Given the description of an element on the screen output the (x, y) to click on. 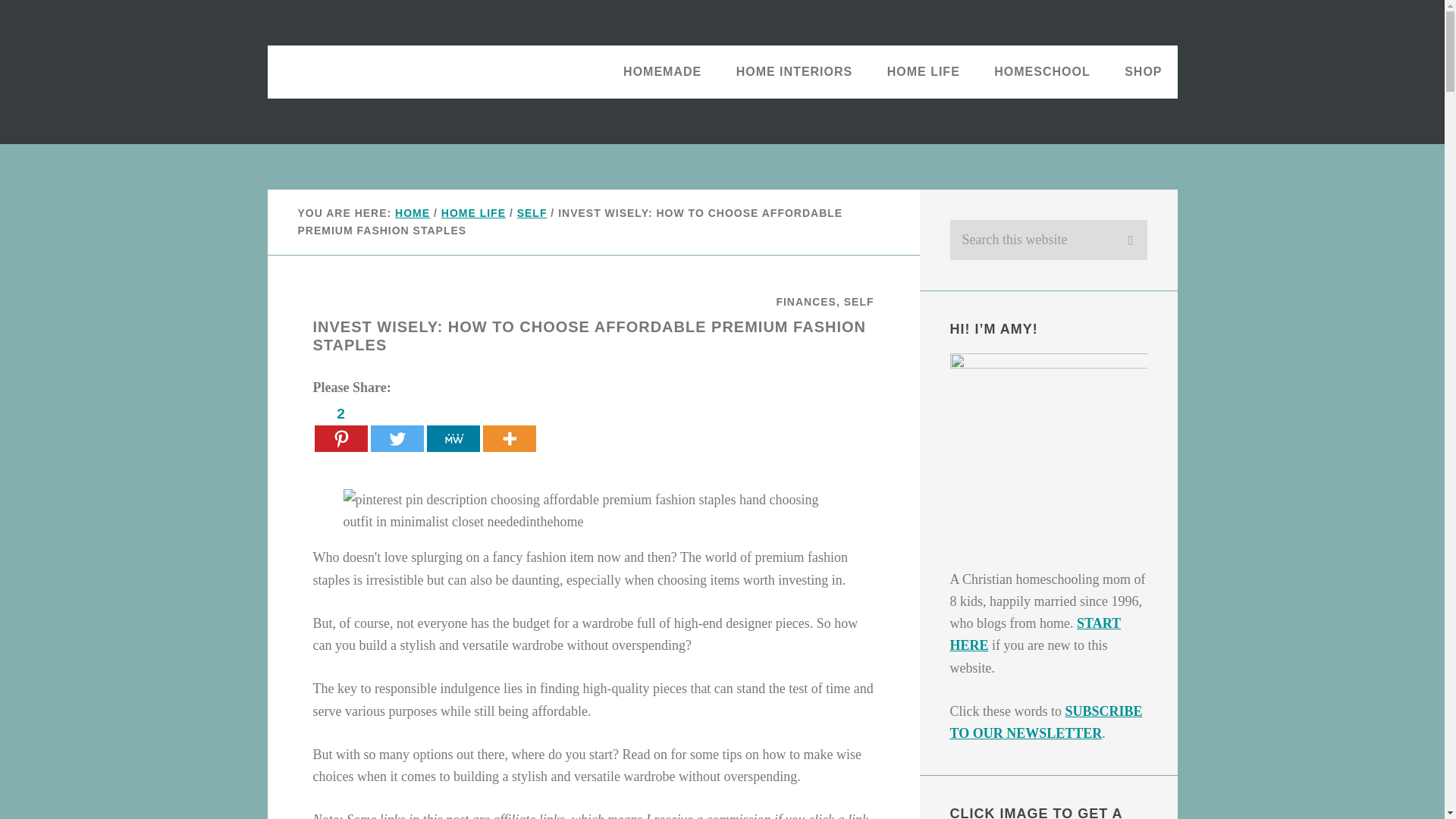
Twitter (396, 427)
More (508, 427)
HOME LIFE (923, 71)
Pinterest (340, 427)
NeededInTheHome (365, 71)
HOME INTERIORS (793, 71)
MeWe (452, 427)
Choosing Affordable Premium Fashion Staples (592, 510)
